Given the description of an element on the screen output the (x, y) to click on. 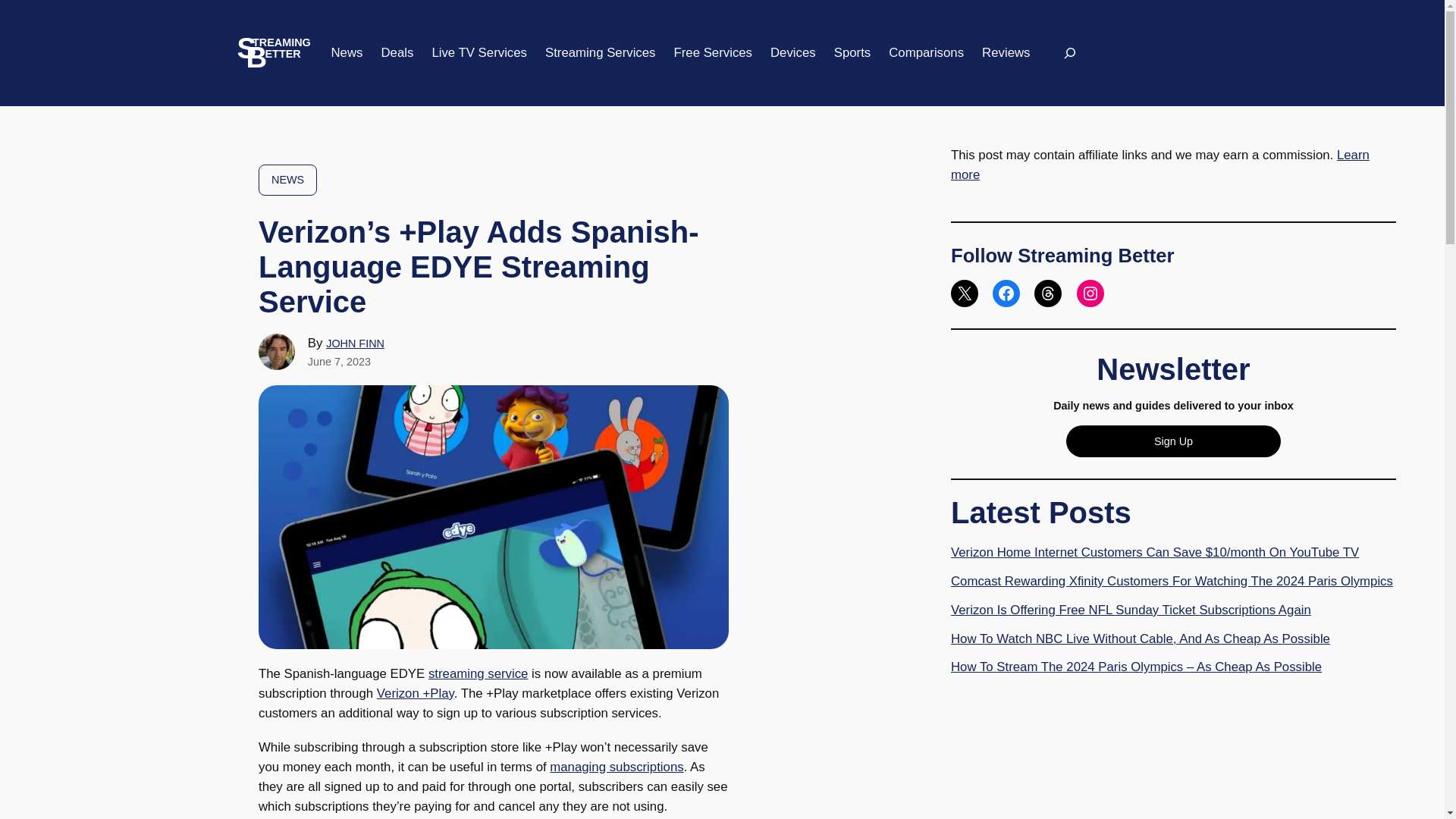
Comparisons (925, 53)
managing subscriptions (616, 766)
JOHN FINN (355, 343)
Streaming Services (600, 53)
Deals (396, 53)
streaming service (478, 673)
Free Services (712, 53)
News (346, 53)
Live TV Services (478, 53)
Reviews (1005, 53)
NEWS (288, 179)
Devices (792, 53)
Sports (852, 53)
